Given the description of an element on the screen output the (x, y) to click on. 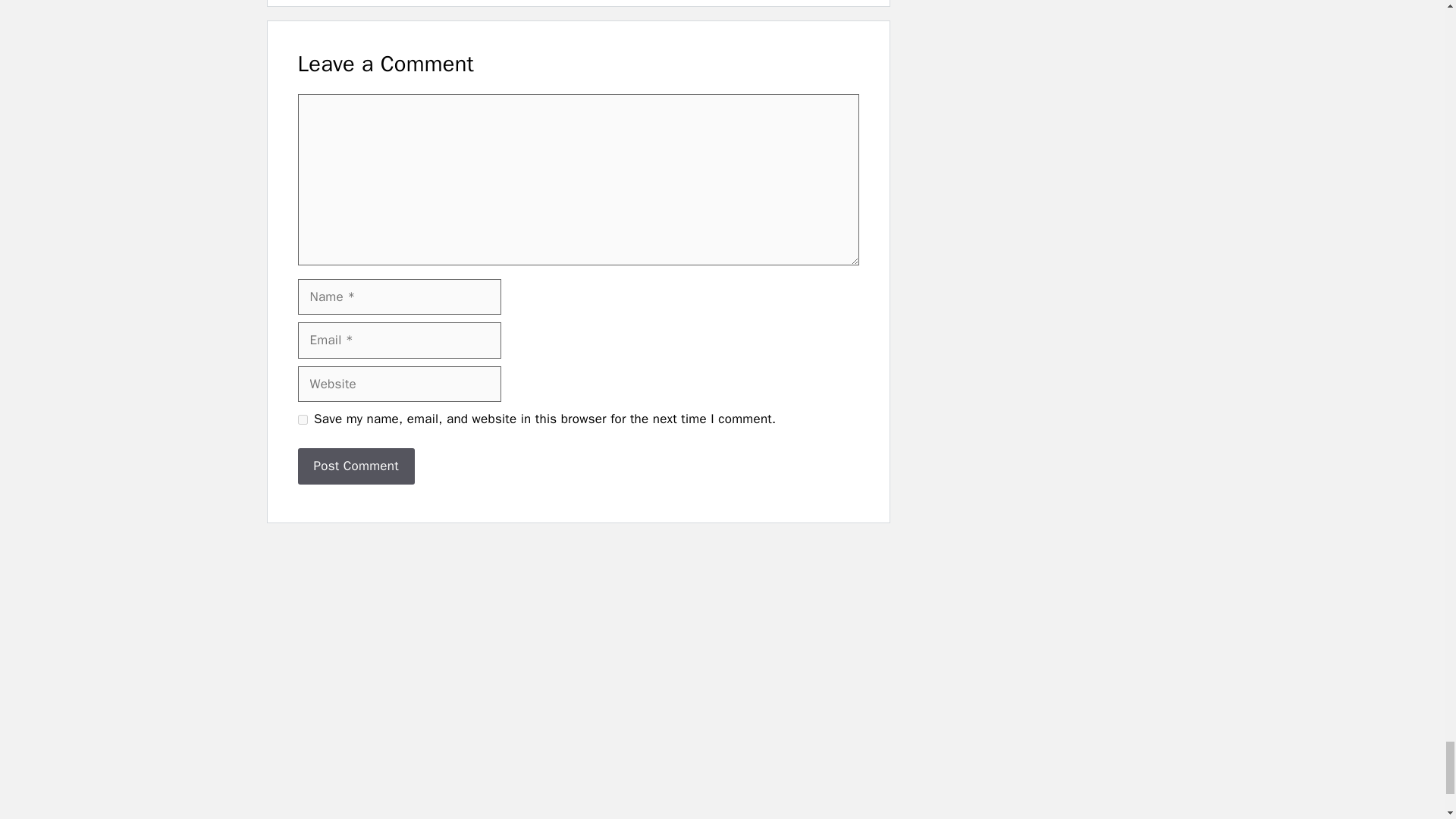
yes (302, 419)
Post Comment (355, 465)
